Given the description of an element on the screen output the (x, y) to click on. 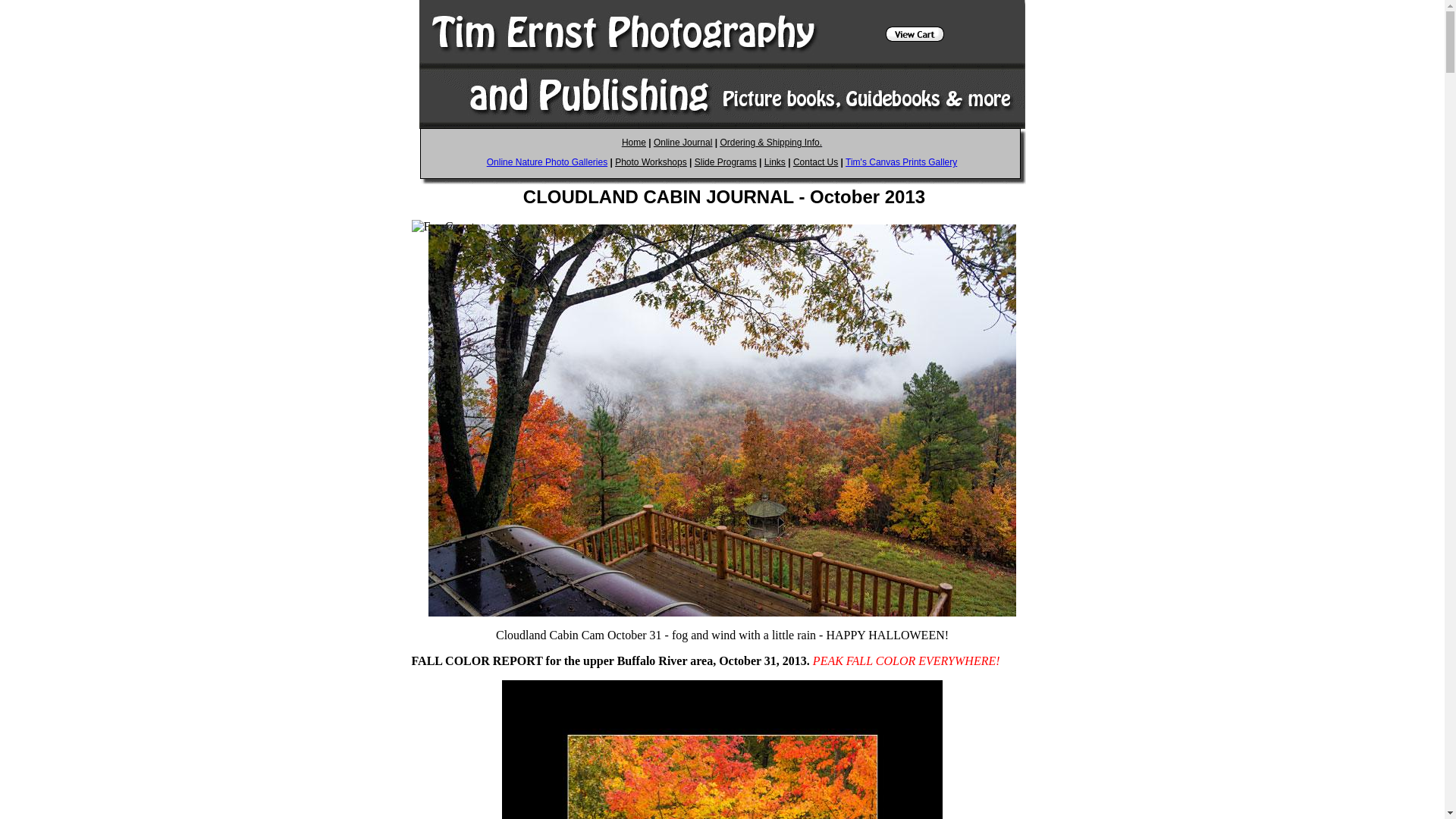
Tim Ernst Photography (546, 162)
Slide Programs (725, 162)
Photo Workshops (650, 162)
Home (633, 142)
Online Nature Photo Galleries (546, 162)
Contact Us (815, 162)
Links (775, 162)
Online Journal (682, 142)
Tim's Canvas Prints Gallery (900, 162)
